Given the description of an element on the screen output the (x, y) to click on. 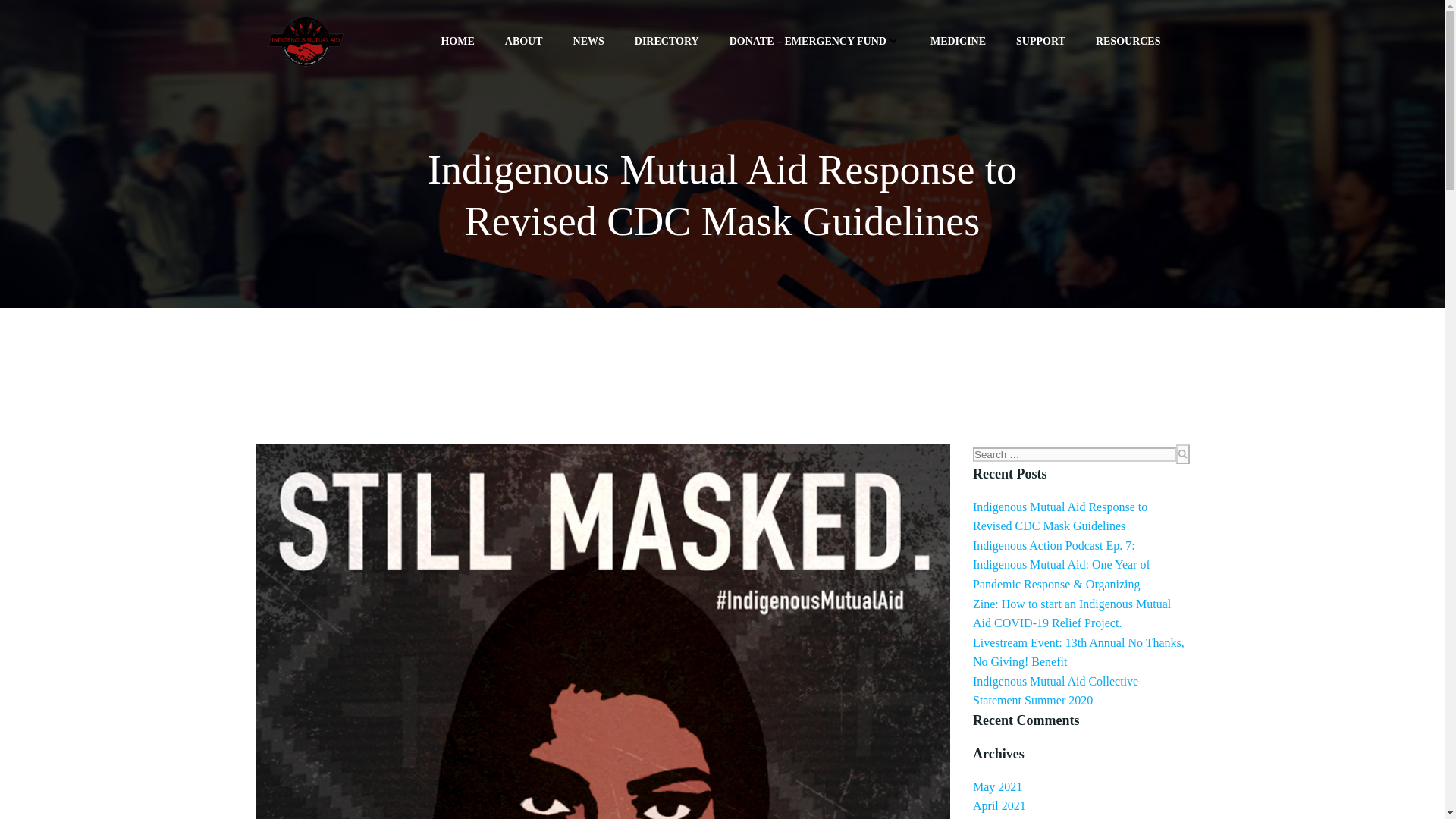
May 2021 (997, 786)
RESOURCES (1135, 41)
MEDICINE (957, 41)
Search  (18, 9)
SUPPORT (1040, 41)
HOME (457, 41)
April 2021 (999, 805)
Indigenous Mutual Aid Collective Statement Summer 2020 (1055, 690)
ABOUT (524, 41)
DIRECTORY (666, 41)
Livestream Event: 13th Annual No Thanks, No Giving! Benefit (1078, 652)
NEWS (588, 41)
